Given the description of an element on the screen output the (x, y) to click on. 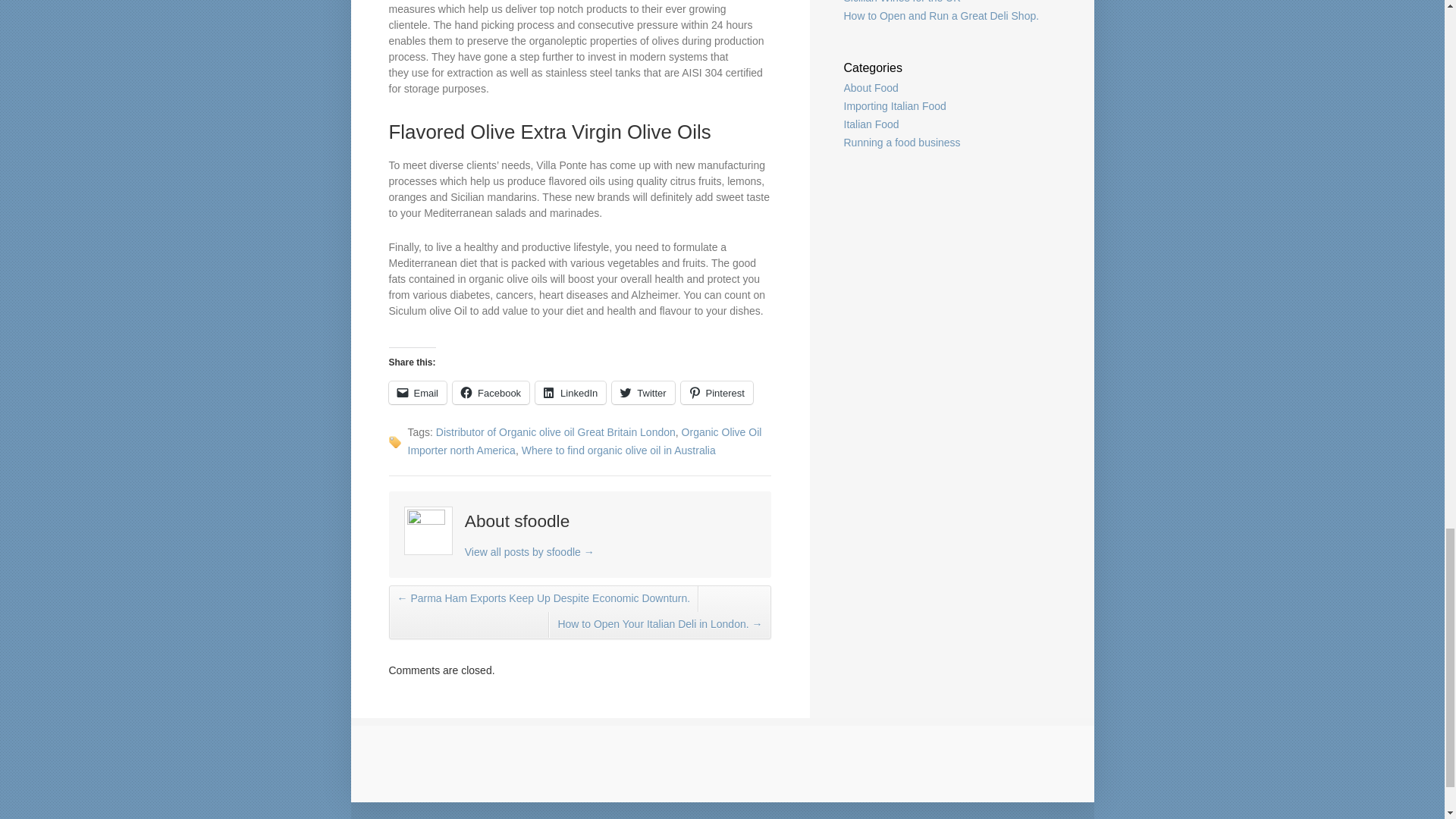
Click to share on Twitter (642, 392)
Email (417, 392)
Distributor of Organic olive oil Great Britain London (555, 431)
LinkedIn (570, 392)
Click to share on Facebook (490, 392)
Organic Olive Oil Importer north America (584, 440)
Click to share on LinkedIn (570, 392)
Facebook (490, 392)
Pinterest (716, 392)
Where to find organic olive oil in Australia (618, 450)
